Given the description of an element on the screen output the (x, y) to click on. 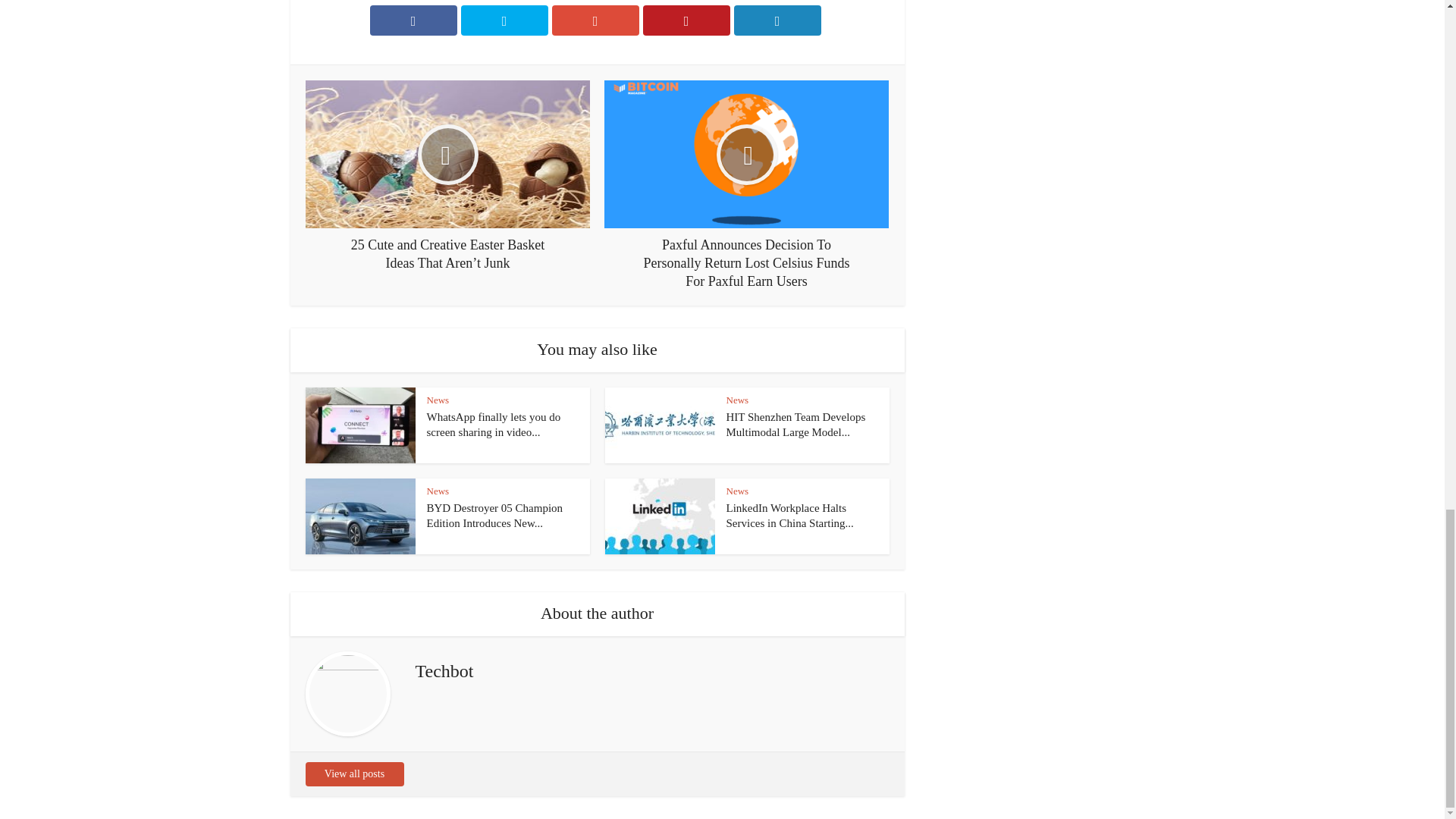
WhatsApp finally lets you do screen sharing in video calls (493, 424)
BYD Destroyer 05 Champion Edition Introduces New Version (494, 515)
LinkedIn Workplace Halts Services in China Starting Today (789, 515)
